Given the description of an element on the screen output the (x, y) to click on. 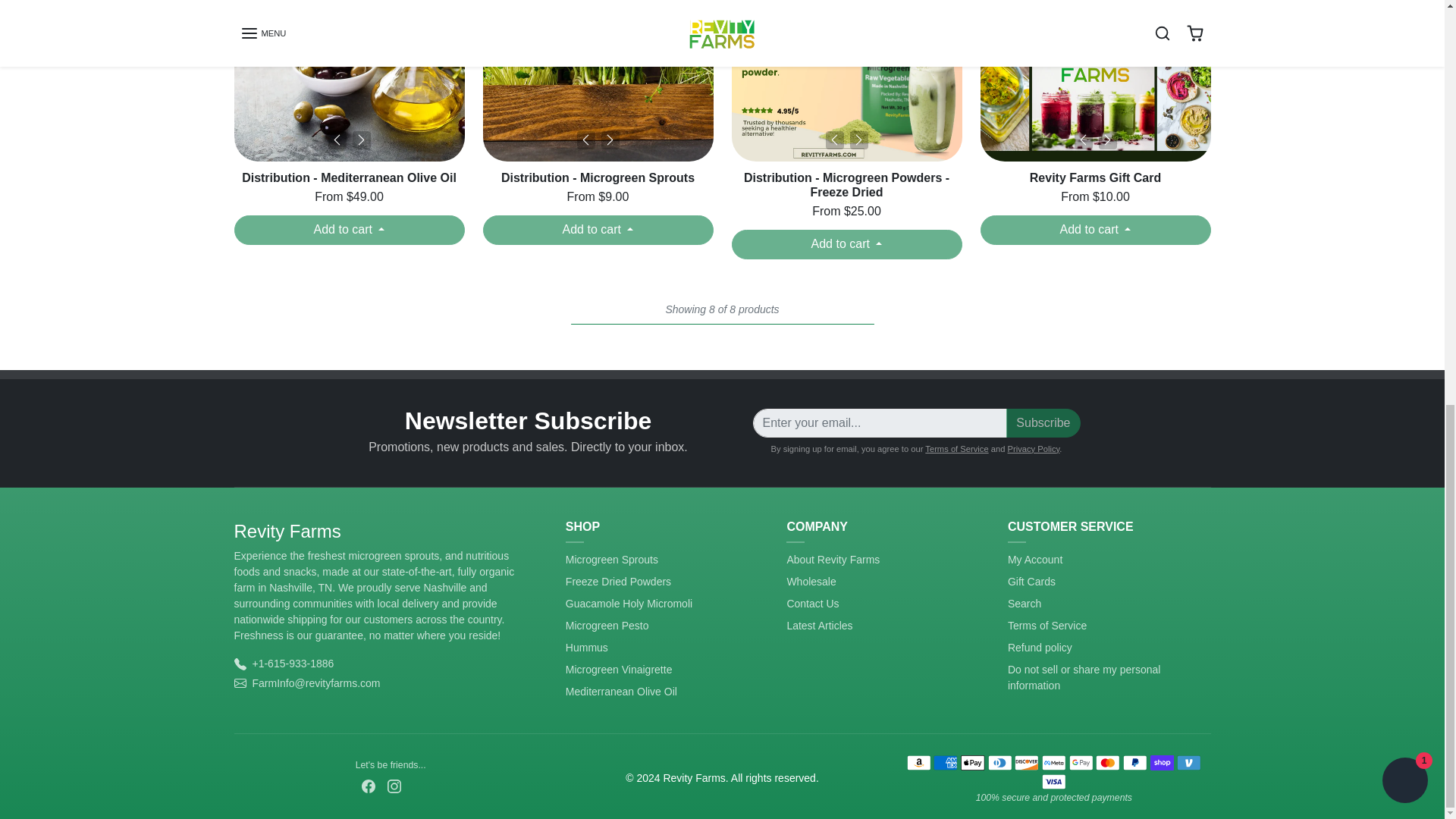
Venmo (1188, 762)
PayPal (1134, 762)
Shop Pay (1162, 762)
Mastercard (1107, 762)
Shopify online store chat (1404, 2)
Apple Pay (972, 762)
Amazon (918, 762)
Google Pay (1080, 762)
Visa (1053, 781)
American Express (945, 762)
Diners Club (999, 762)
Discover (1026, 762)
Meta Pay (1053, 762)
